Given the description of an element on the screen output the (x, y) to click on. 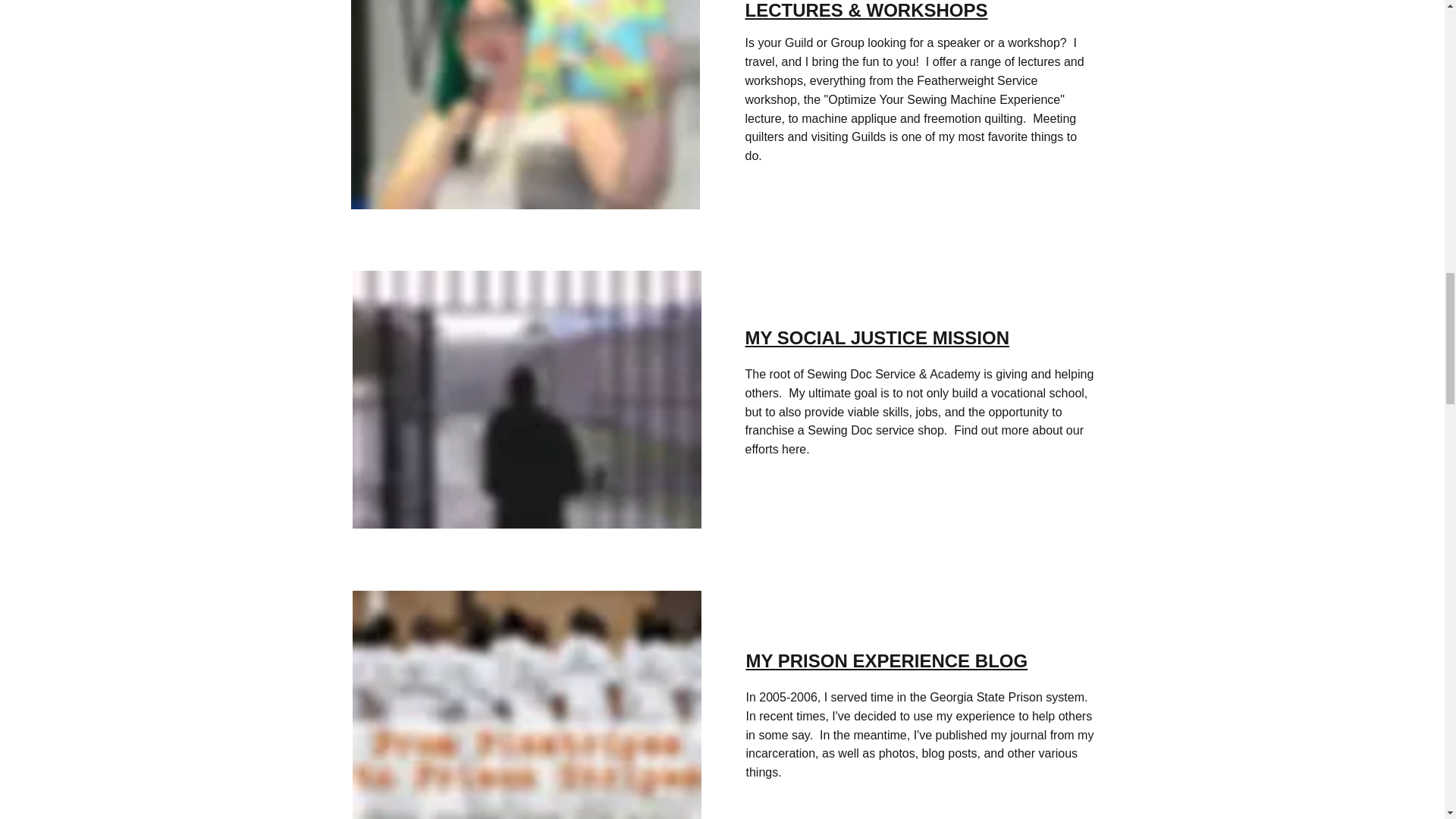
MY PRISON EXPERIENCE BLOG (886, 660)
MY SOCIAL JUSTICE MISSION (876, 337)
